Given the description of an element on the screen output the (x, y) to click on. 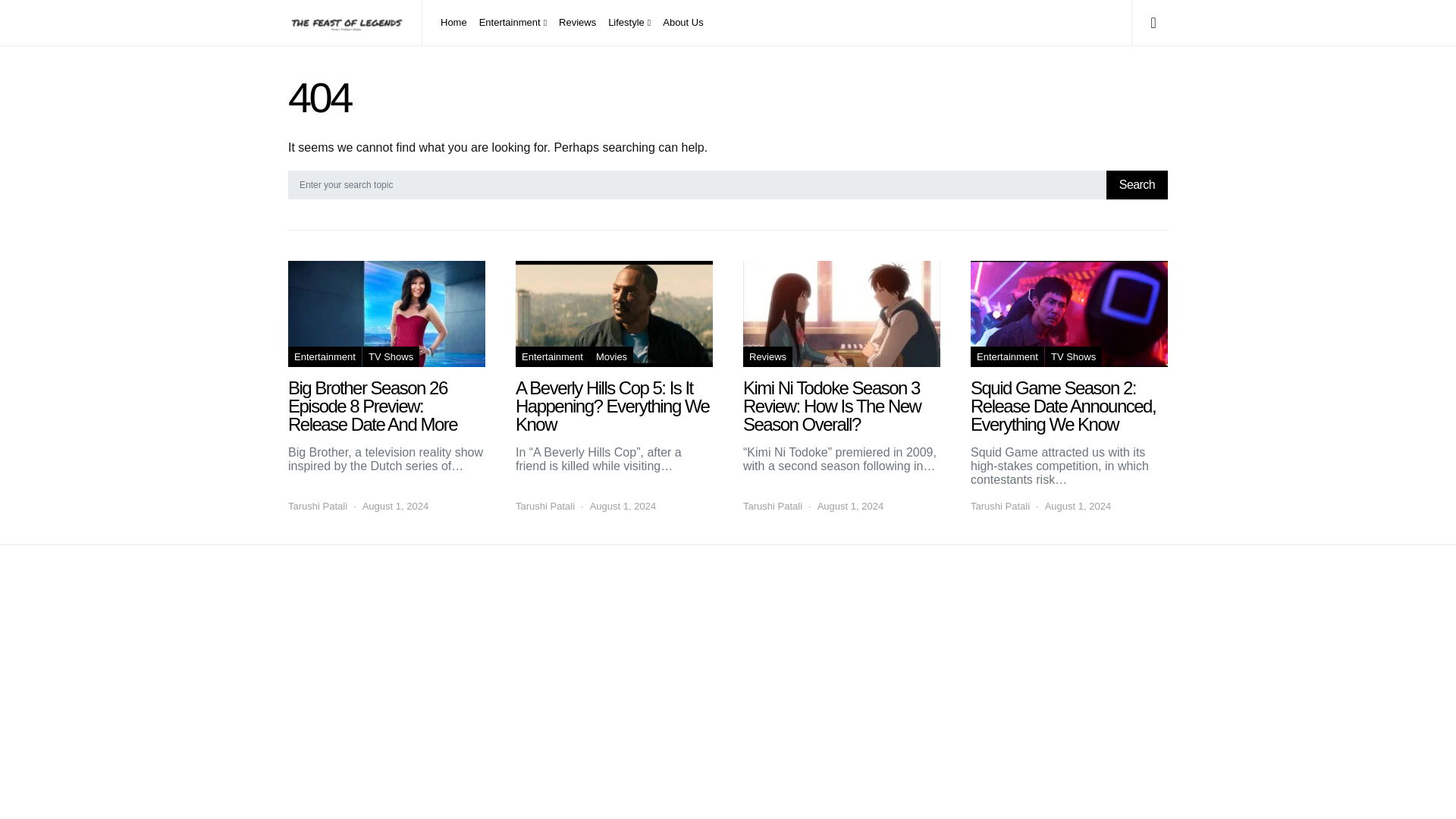
About Us (679, 22)
Tarushi Patali (545, 506)
Reviews (767, 356)
Movies (611, 356)
Entertainment (552, 356)
Entertainment (324, 356)
Lifestyle (629, 22)
Tarushi Patali (317, 506)
Contact Us (312, 626)
Tarushi Patali (772, 506)
